Given the description of an element on the screen output the (x, y) to click on. 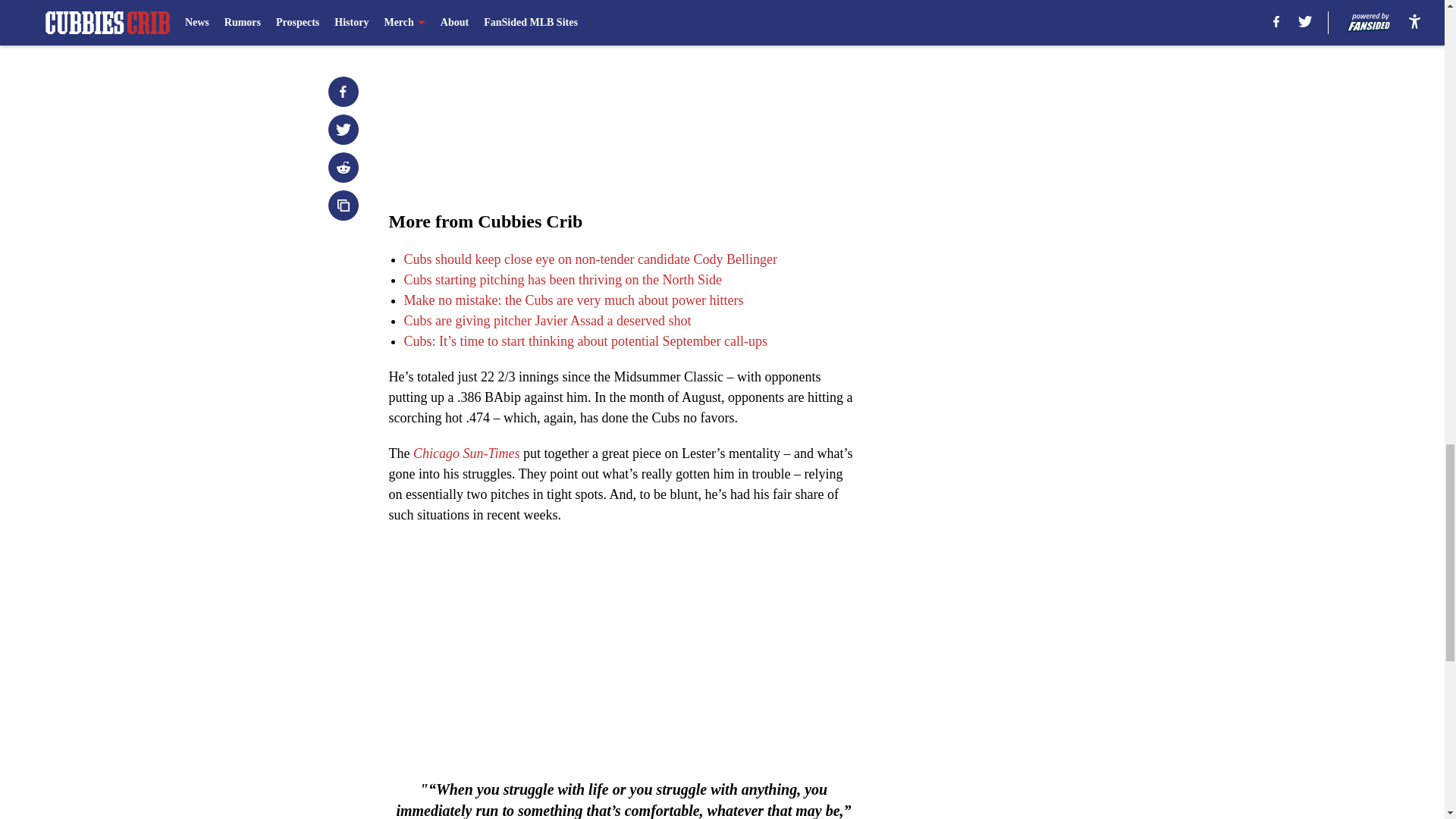
Cubs are giving pitcher Javier Assad a deserved shot (546, 320)
Make no mistake: the Cubs are very much about power hitters (572, 299)
Chicago Sun-Times (464, 453)
Cubs starting pitching has been thriving on the North Side (561, 279)
